Given the description of an element on the screen output the (x, y) to click on. 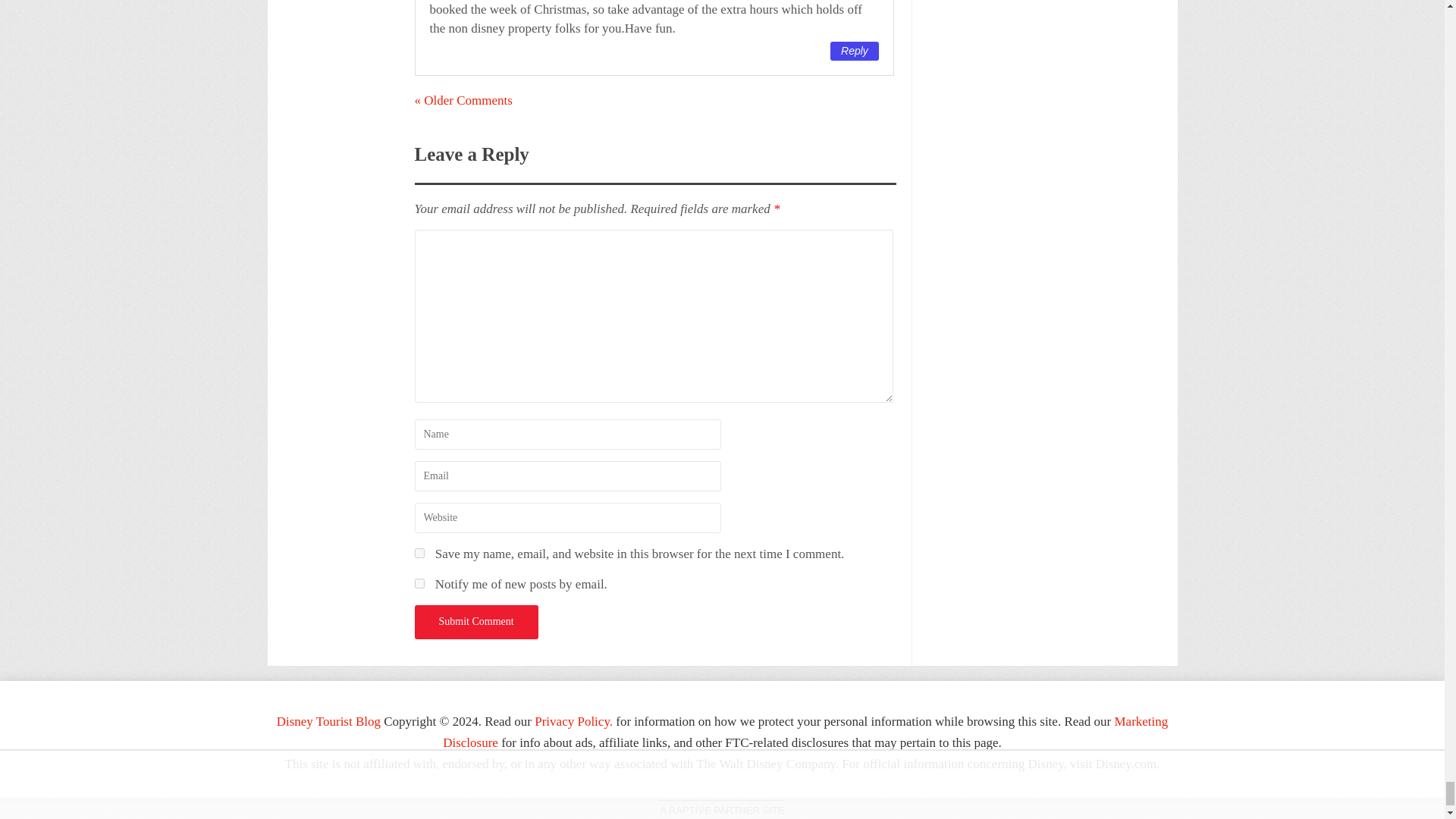
subscribe (418, 583)
Submit Comment (475, 622)
yes (418, 552)
